Given the description of an element on the screen output the (x, y) to click on. 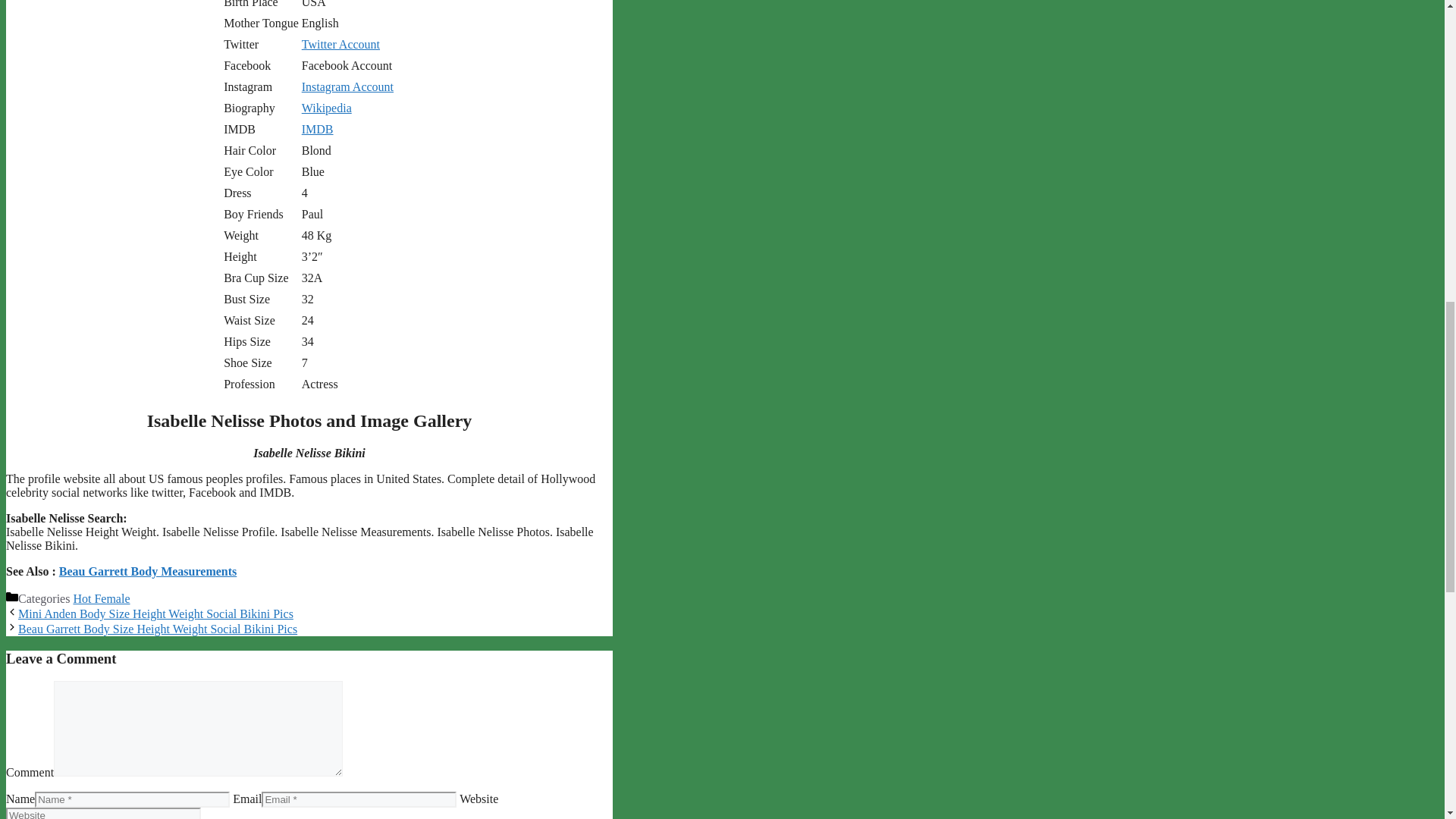
Wikipedia (326, 107)
Hot Female (100, 598)
Mini Anden Body Size Height Weight Social Bikini Pics (155, 613)
Twitter Account (340, 43)
Beau Garrett Body Size Height Weight Social Bikini Pics (157, 628)
IMDB (317, 128)
Beau Garrett Body Measurements (147, 571)
Instagram Account (347, 86)
Scroll back to top (1406, 720)
